Given the description of an element on the screen output the (x, y) to click on. 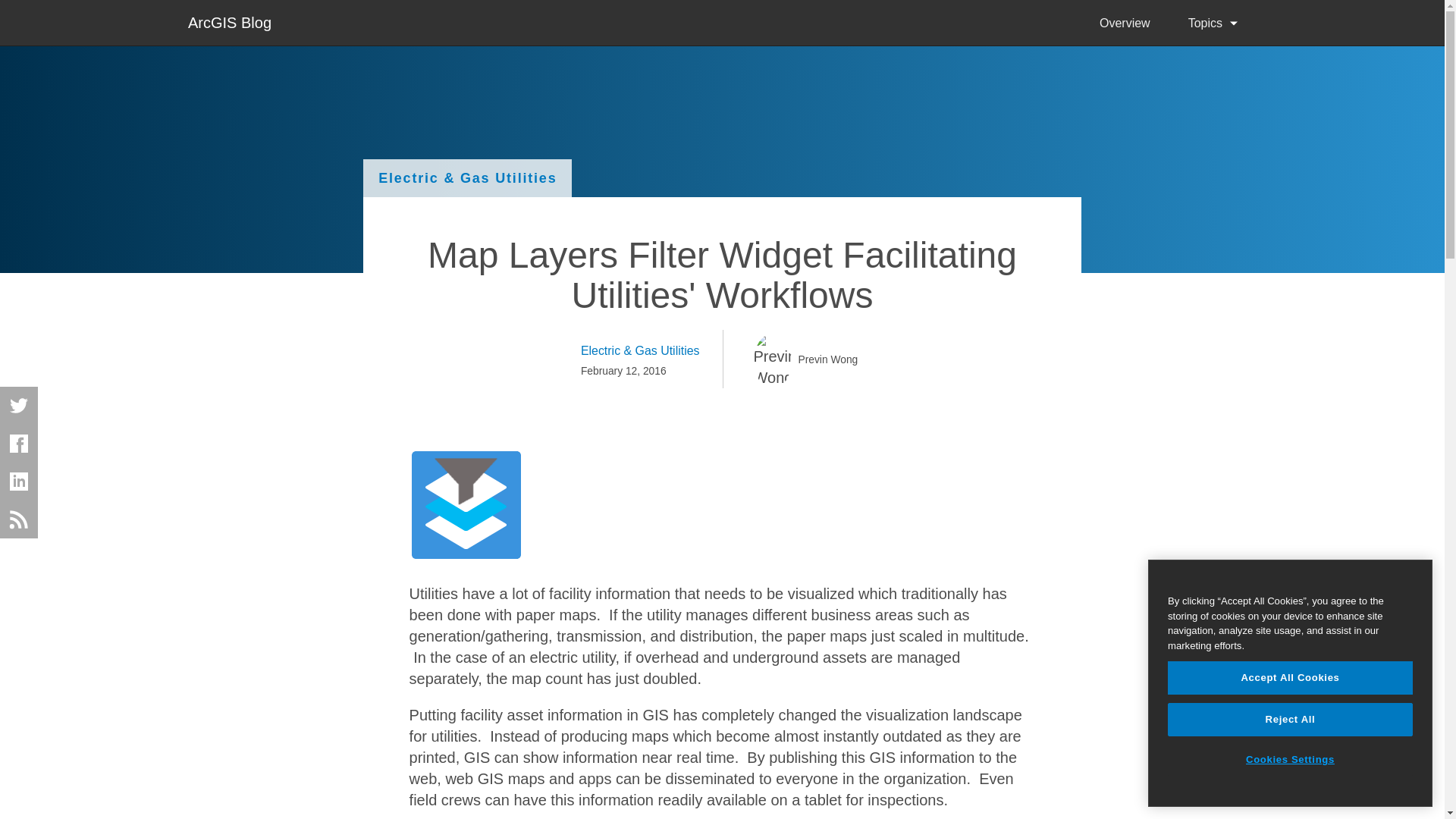
Overview (1124, 22)
Topics (1212, 22)
ArcGIS Blog (228, 21)
